Given the description of an element on the screen output the (x, y) to click on. 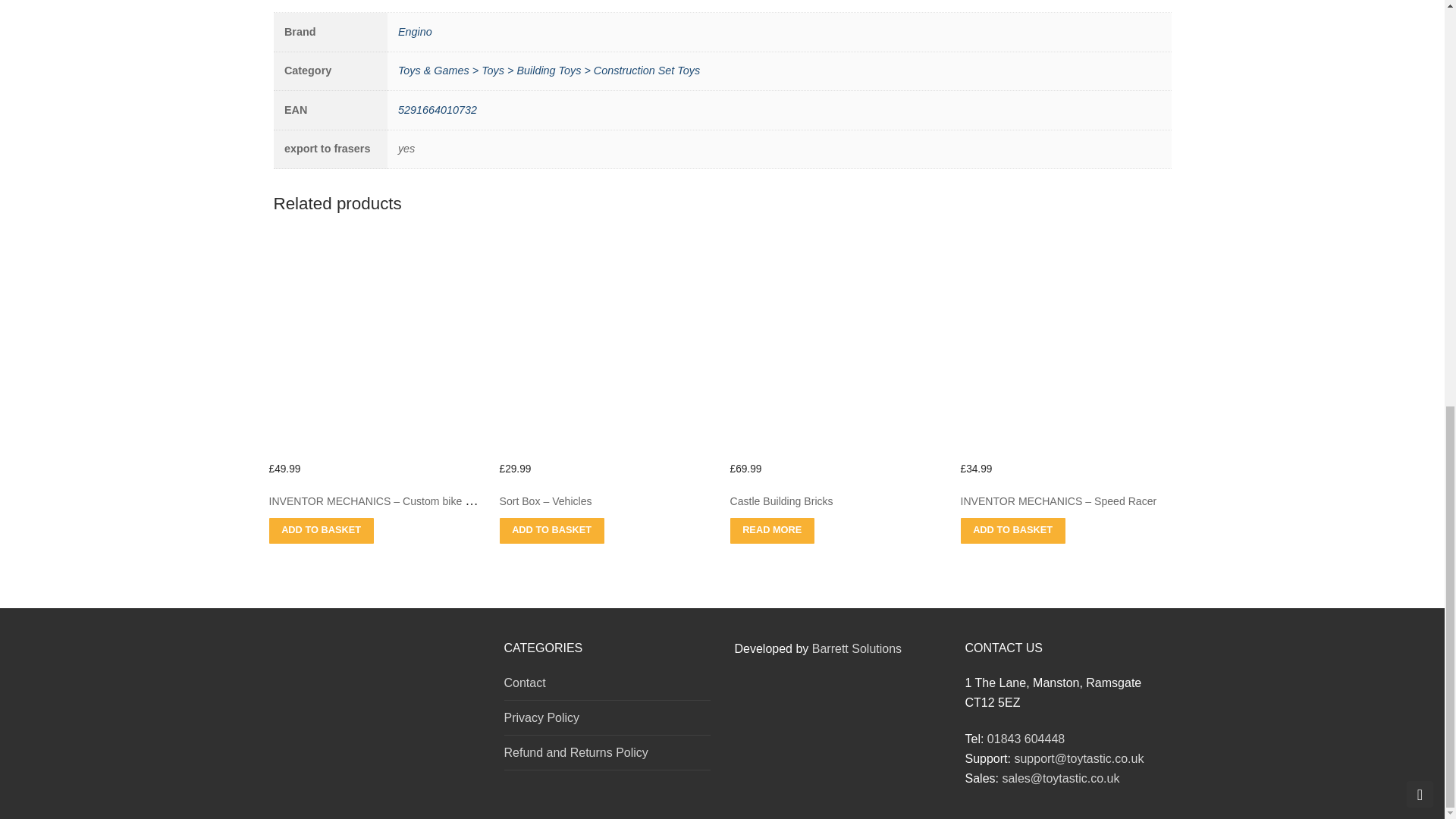
Add to cart (319, 529)
Add to cart (771, 529)
Add to cart (551, 529)
Add to cart (1011, 529)
